Given the description of an element on the screen output the (x, y) to click on. 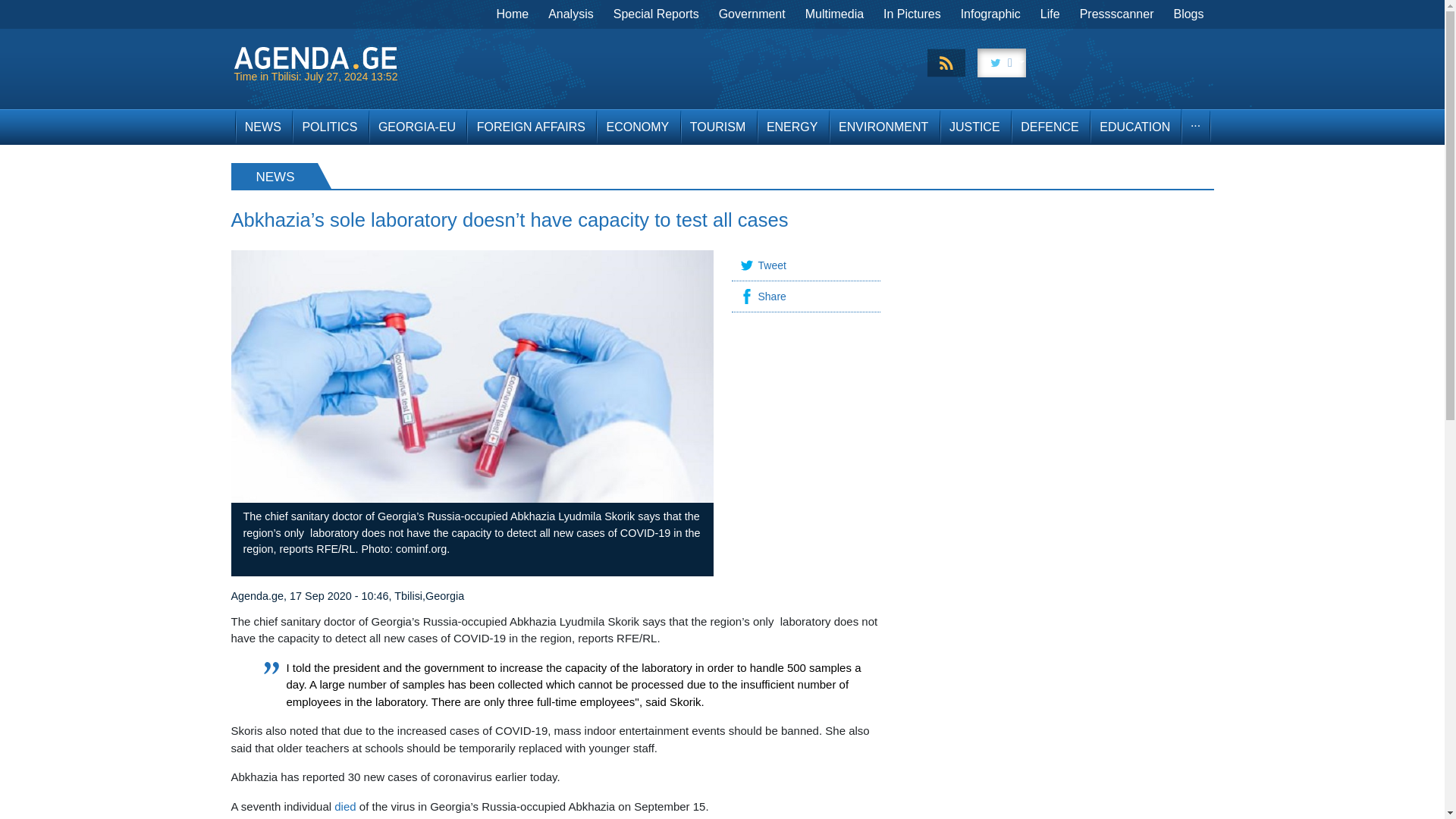
Special Reports (656, 14)
NEWS (262, 126)
Government (751, 14)
Pressscanner (1116, 14)
Infographic (990, 14)
Home (512, 14)
Life (1050, 14)
Blogs (1187, 14)
In Pictures (911, 14)
Multimedia (833, 14)
Analysis (571, 14)
